Given the description of an element on the screen output the (x, y) to click on. 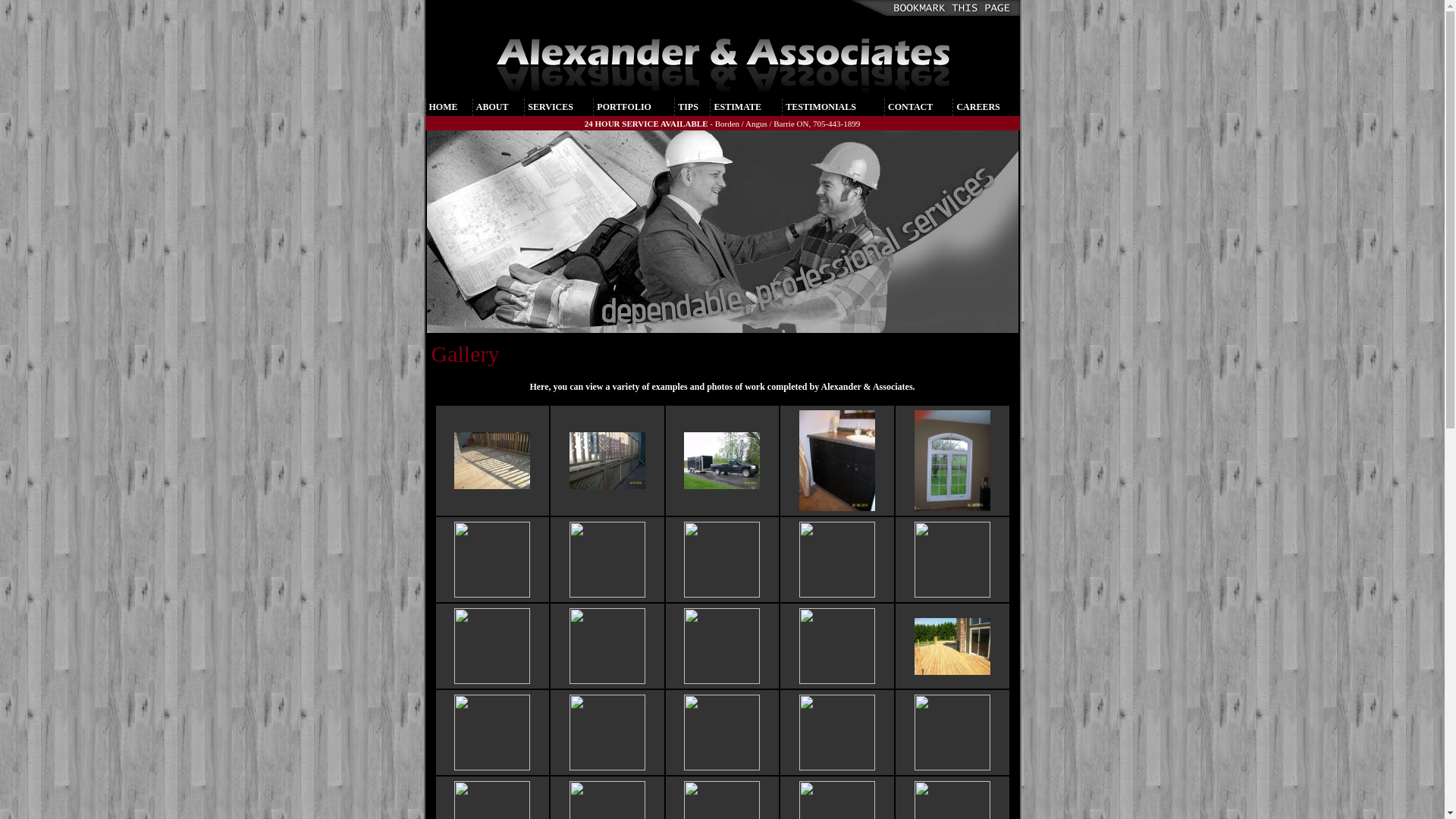
PORTFOLIO Element type: text (623, 106)
SERVICES Element type: text (550, 106)
CONTACT Element type: text (910, 106)
TIPS Element type: text (687, 106)
HOME Element type: text (443, 106)
ABOUT Element type: text (492, 106)
TESTIMONIALS Element type: text (820, 106)
ESTIMATE Element type: text (736, 106)
CAREERS Element type: text (977, 106)
